Given the description of an element on the screen output the (x, y) to click on. 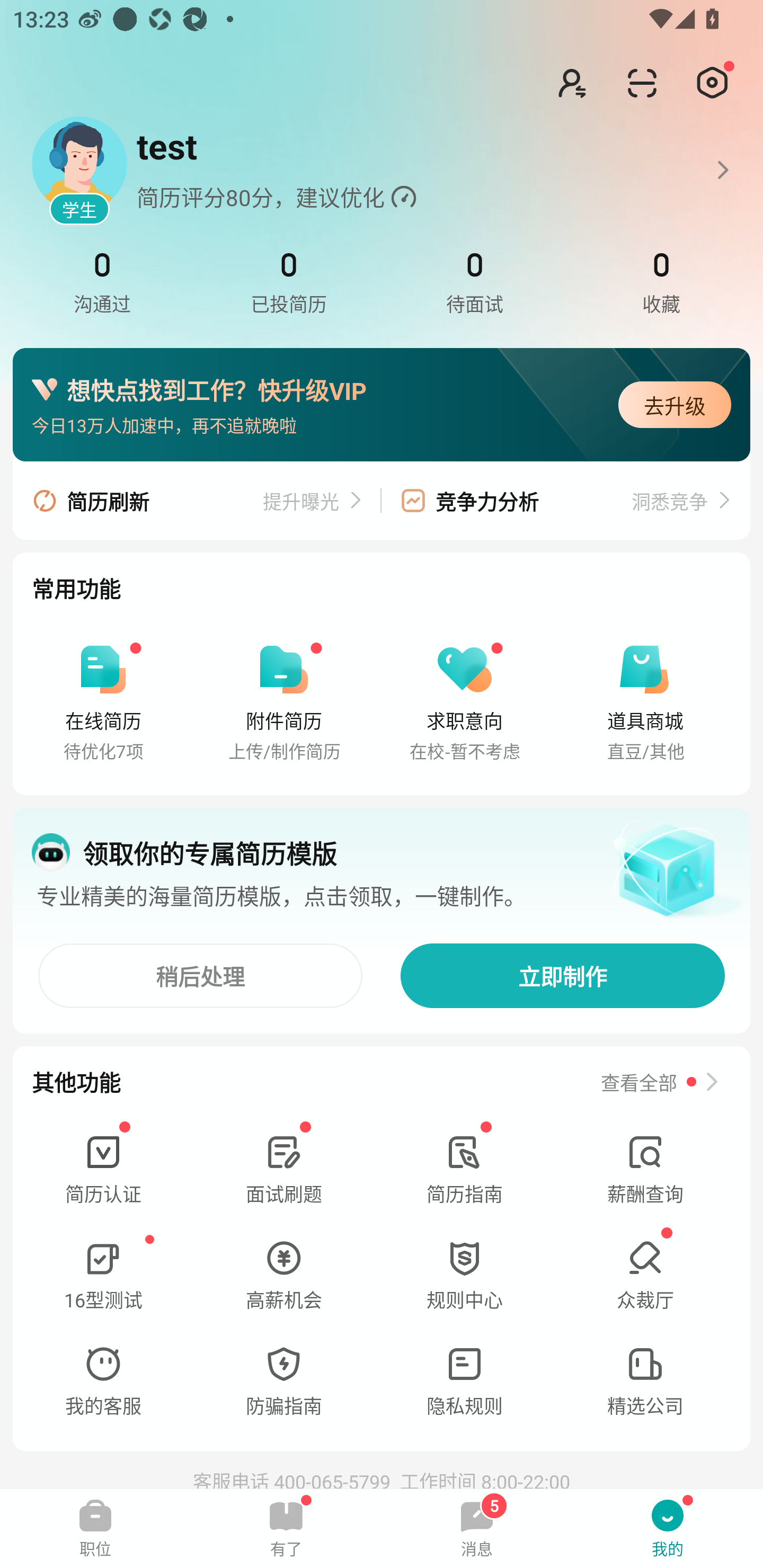
简历评分80分，建议优化 (417, 170)
0 沟通过 (101, 281)
0 已投简历 (288, 281)
0 待面试 (474, 281)
0 收藏 (660, 281)
想快点找到工作？快升级VIP 今日13万人加速中，再不追就晚啦 去升级 (381, 404)
去升级 (674, 404)
简历刷新 提升曝光 (196, 499)
竞争力分析 洞悉竞争 (565, 499)
在线简历 待优化7项 (102, 701)
附件简历 上传/制作简历 (283, 701)
求职意向 在校-暂不考虑 (463, 701)
道具商城 直豆/其他 (644, 701)
稍后处理 (200, 975)
立即制作 (562, 975)
其他功能 查看全部 (381, 1080)
简历认证 (102, 1170)
面试刷题 (283, 1170)
简历指南 (463, 1170)
薪酬查询 (644, 1170)
16型测试 (102, 1275)
高薪机会 (283, 1275)
规则中心 (463, 1275)
众裁厅 (644, 1275)
我的客服 (102, 1382)
防骗指南 (283, 1382)
隐私规则 (463, 1382)
精选公司 (644, 1382)
职位 (95, 1528)
有了 (285, 1528)
消息 (476, 1528)
我的 (667, 1528)
